Given the description of an element on the screen output the (x, y) to click on. 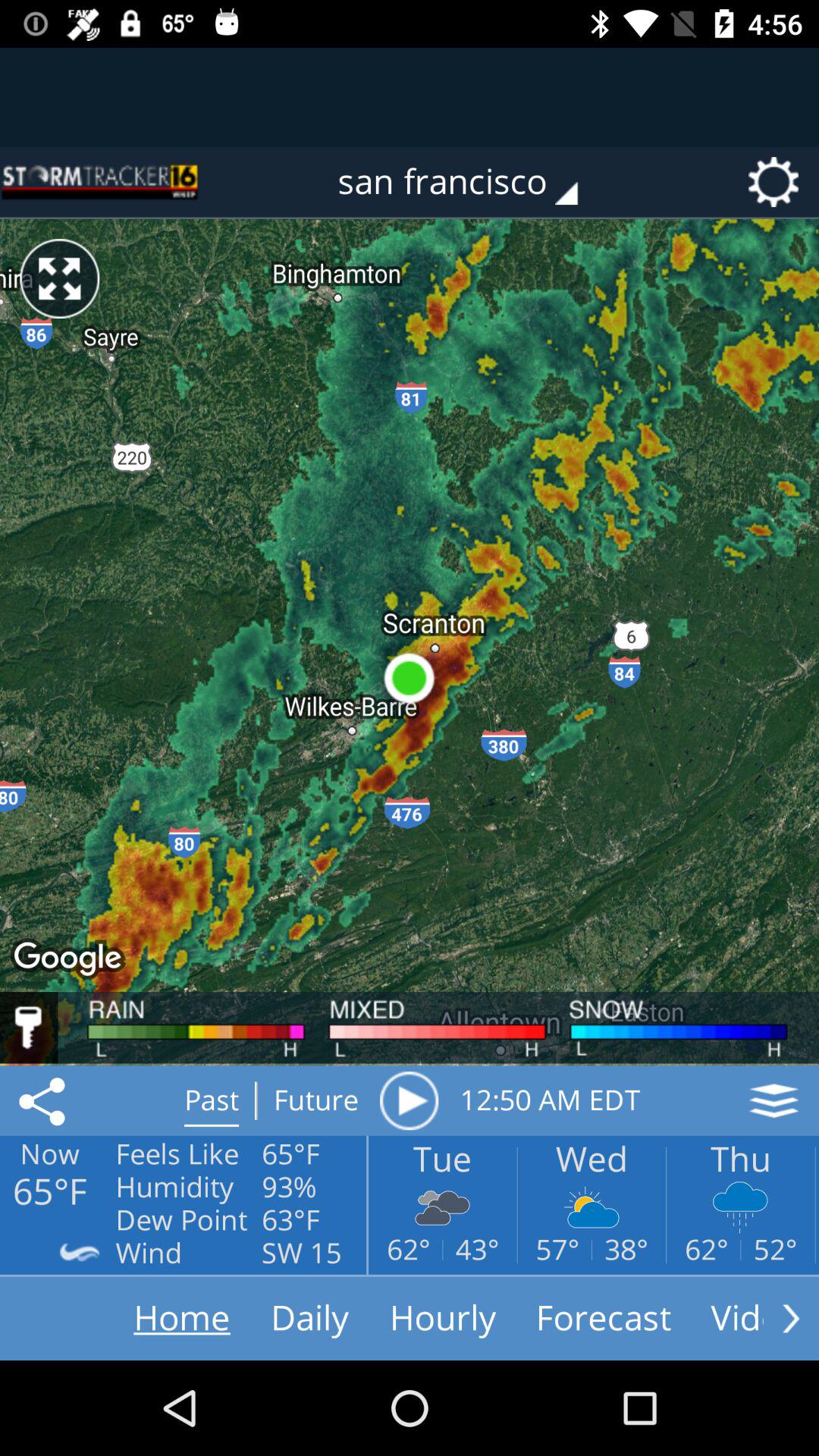
share (44, 1100)
